Given the description of an element on the screen output the (x, y) to click on. 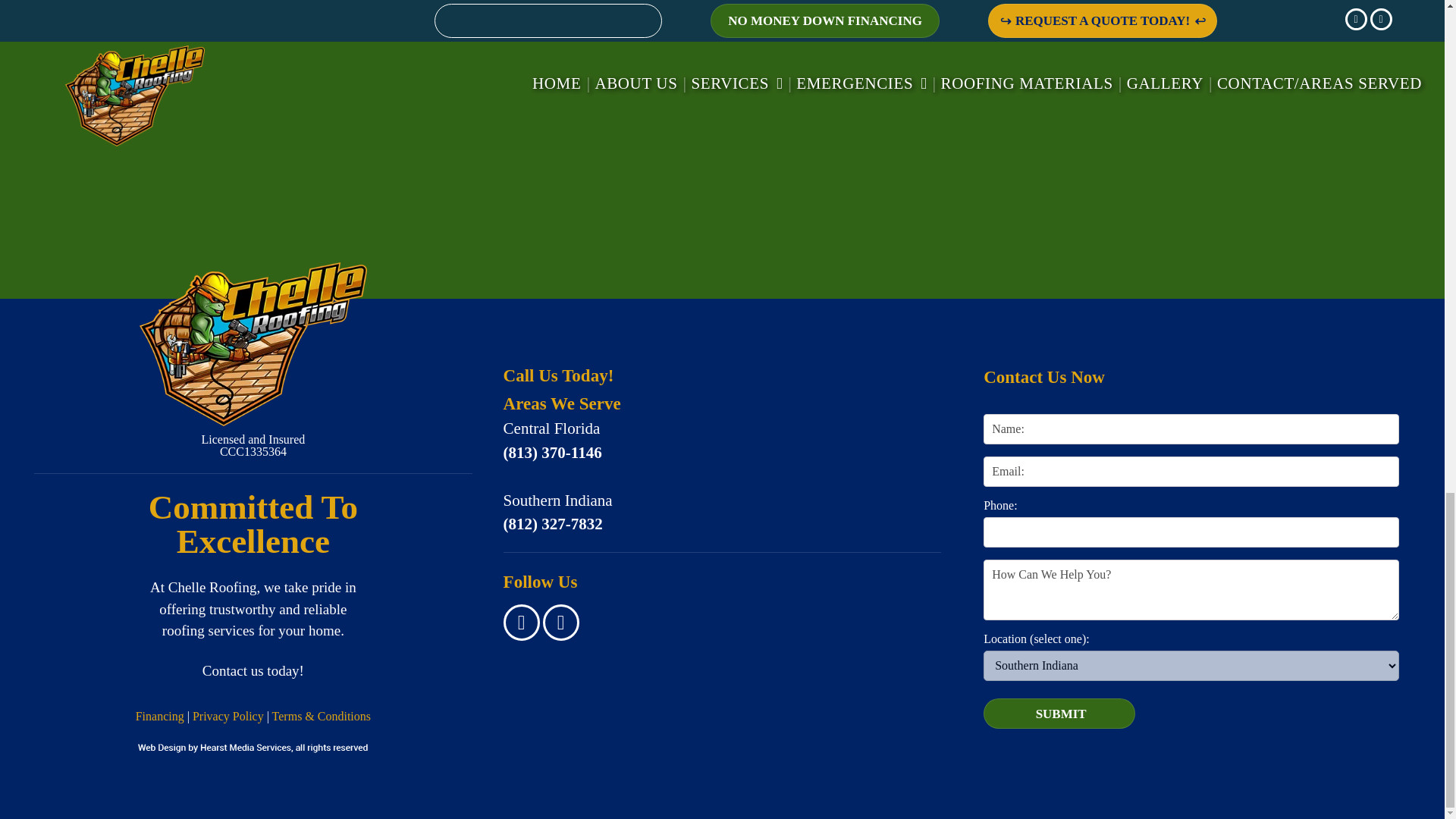
Privacy Policy (227, 716)
Financing (159, 716)
SUBMIT (1060, 714)
